Given the description of an element on the screen output the (x, y) to click on. 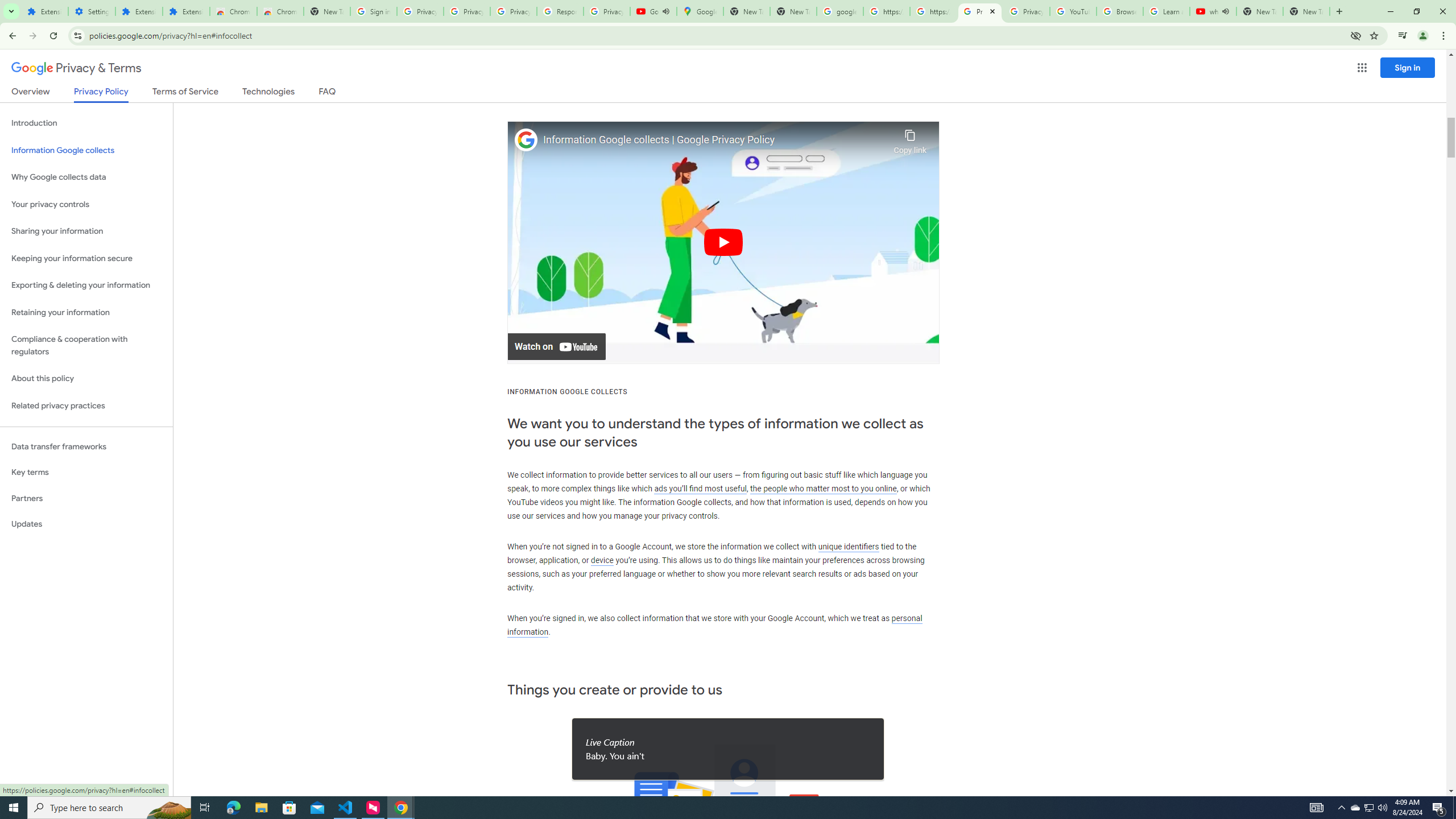
unique identifiers (848, 546)
Sharing your information (86, 230)
Why Google collects data (86, 176)
Retaining your information (86, 312)
New Tab (326, 11)
Google Maps (699, 11)
